Given the description of an element on the screen output the (x, y) to click on. 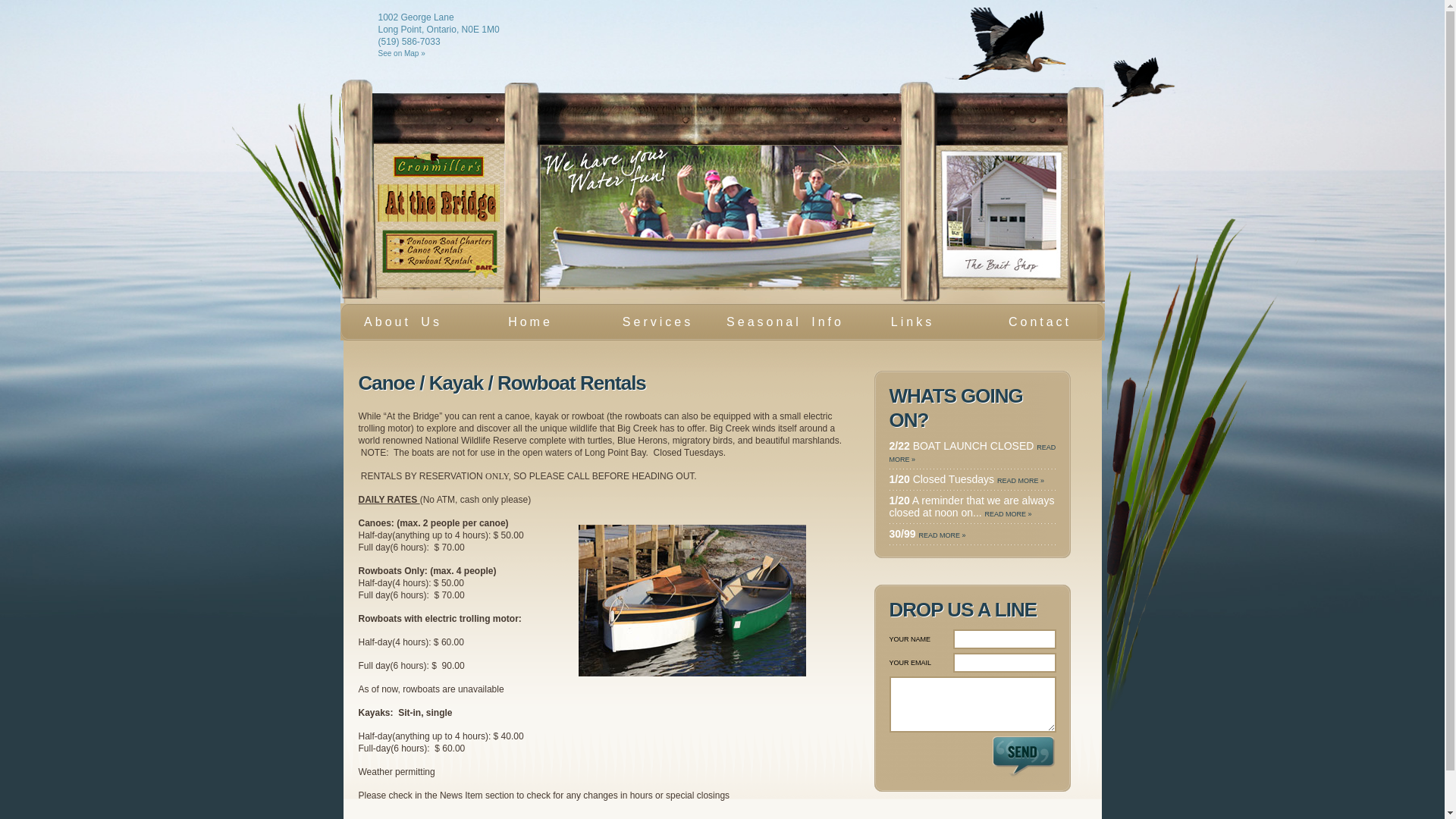
Contact Element type: text (1039, 321)
Links Element type: text (912, 321)
Home Element type: text (530, 321)
About Us Element type: text (402, 321)
Seasonal Info Element type: text (784, 321)
